Given the description of an element on the screen output the (x, y) to click on. 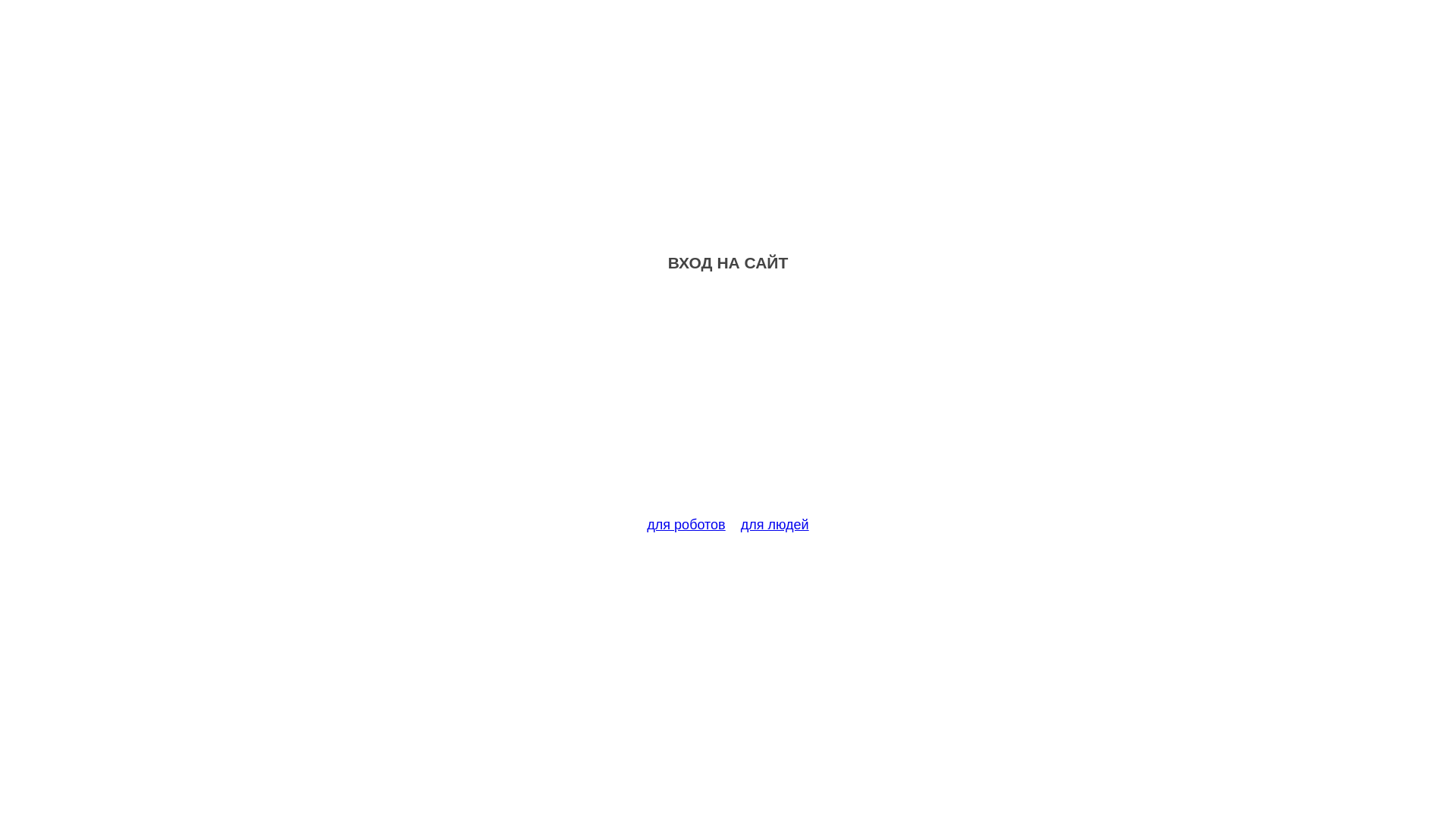
Advertisement Element type: hover (727, 403)
